Given the description of an element on the screen output the (x, y) to click on. 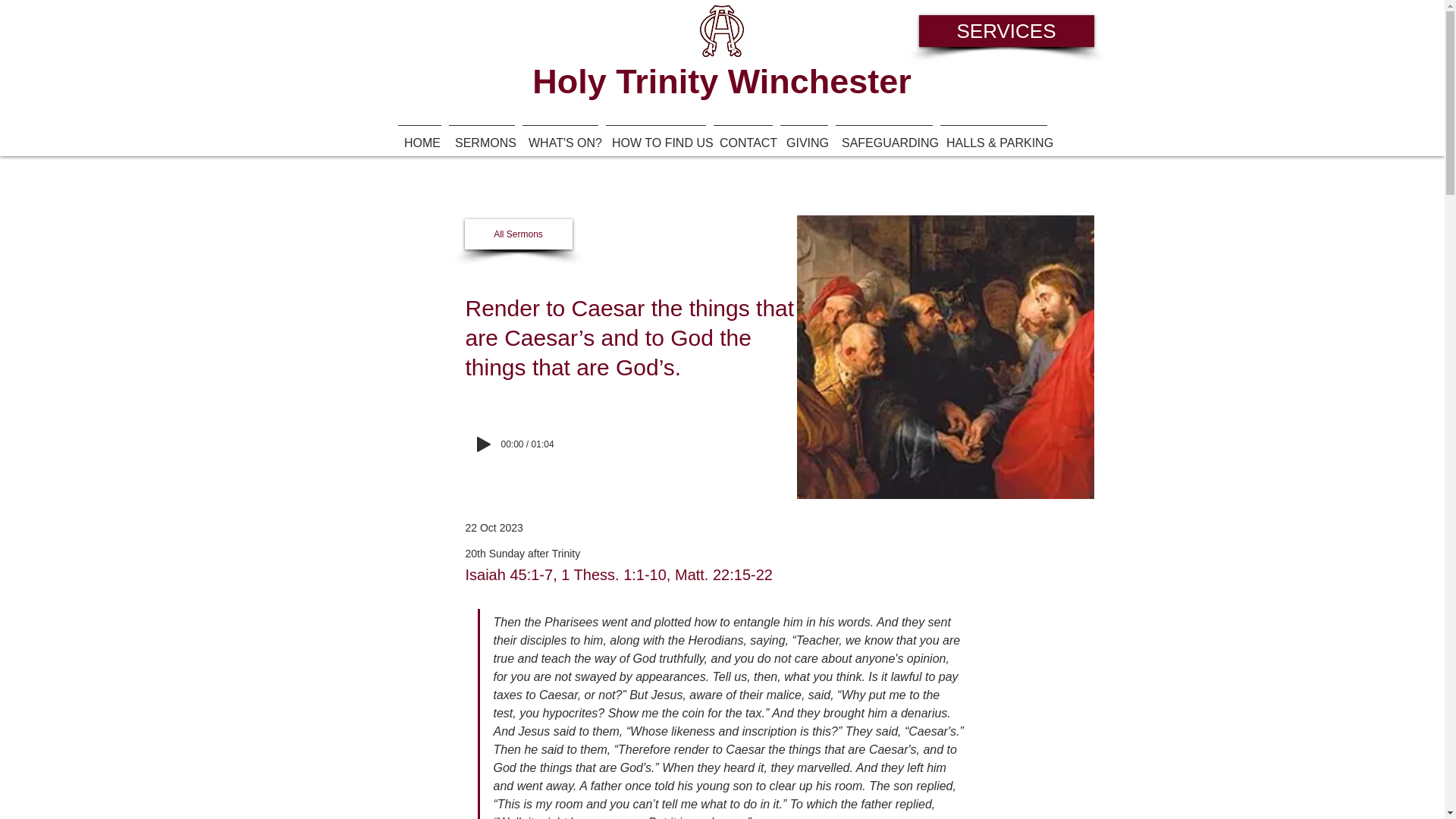
HOW TO FIND US (656, 136)
SAFEGUARDING (883, 136)
CONTACT (743, 136)
GIVING (803, 136)
HOME (419, 136)
All Sermons (518, 234)
SERVICES (1006, 30)
SERMONS (481, 136)
